Given the description of an element on the screen output the (x, y) to click on. 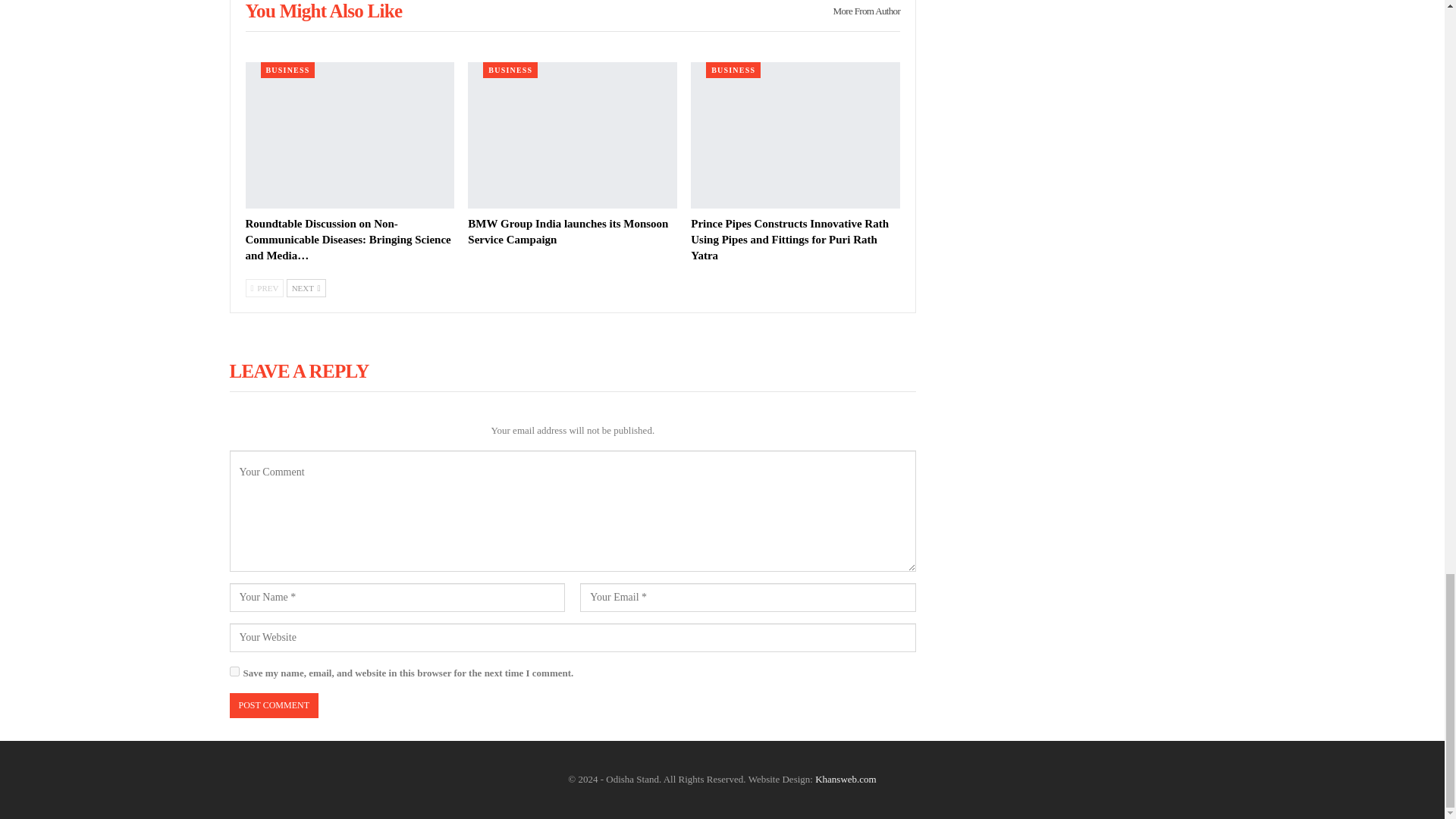
Post Comment (272, 705)
More From Author (861, 14)
BUSINESS (510, 69)
yes (233, 671)
You Might Also Like (324, 12)
BUSINESS (287, 69)
